Given the description of an element on the screen output the (x, y) to click on. 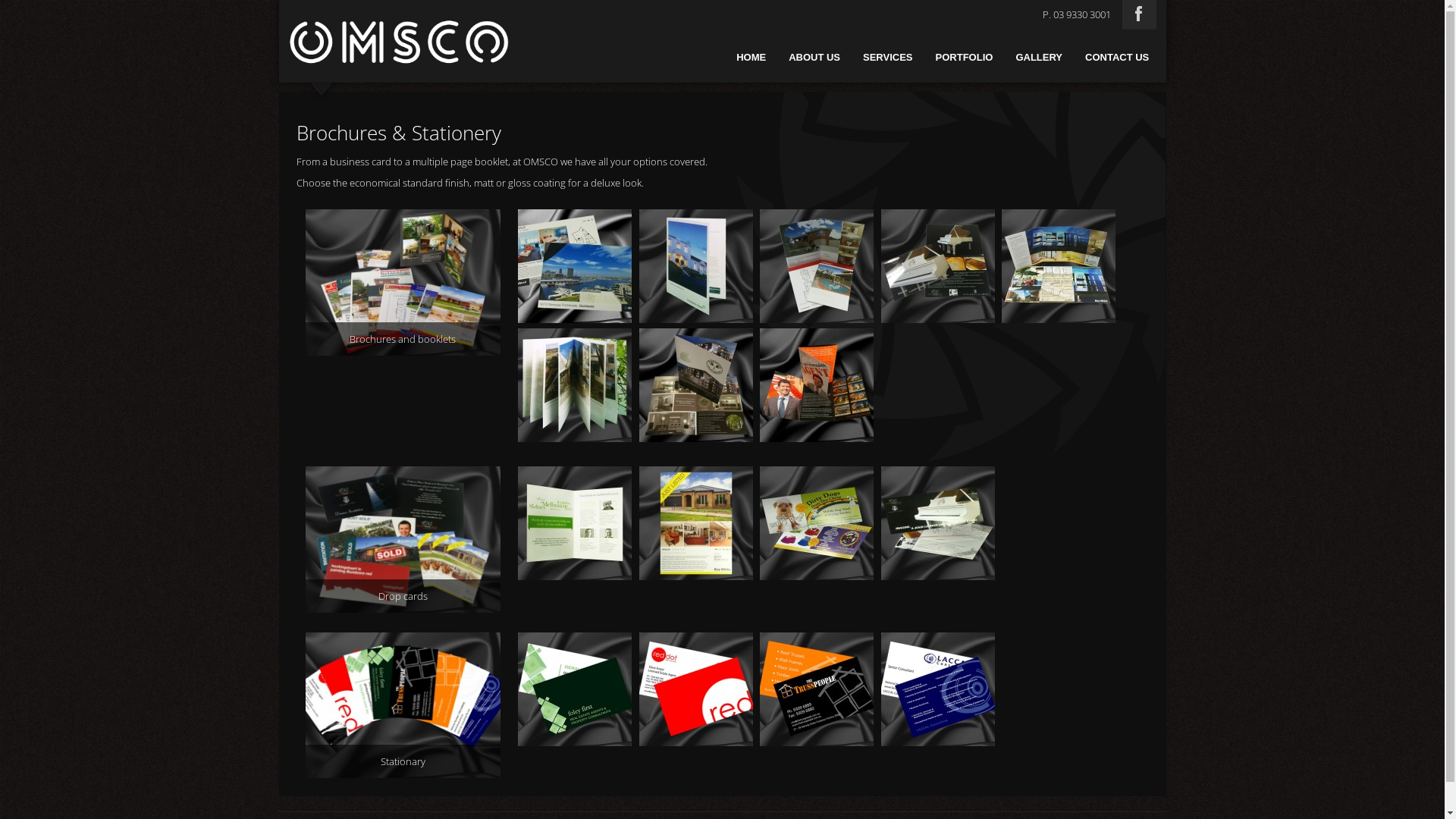
Matt-laminated business cards Element type: hover (940, 639)
HOME Element type: text (750, 56)
CONTACT US Element type: text (1116, 56)
Brochures and booklets Element type: hover (402, 215)
Stationary Element type: hover (402, 639)
Drop cards Element type: hover (402, 473)
P. 03 9330 3001 Element type: text (1076, 14)
SERVICES Element type: text (887, 56)
ABOUT US Element type: text (814, 56)
4 page deluxe matt-laminated brochures Element type: hover (699, 335)
6 page A5 agent profile brochure Element type: hover (818, 335)
PORTFOLIO Element type: text (964, 56)
GALLERY Element type: text (1038, 56)
Follow us on Facebook Element type: hover (1139, 14)
